Given the description of an element on the screen output the (x, y) to click on. 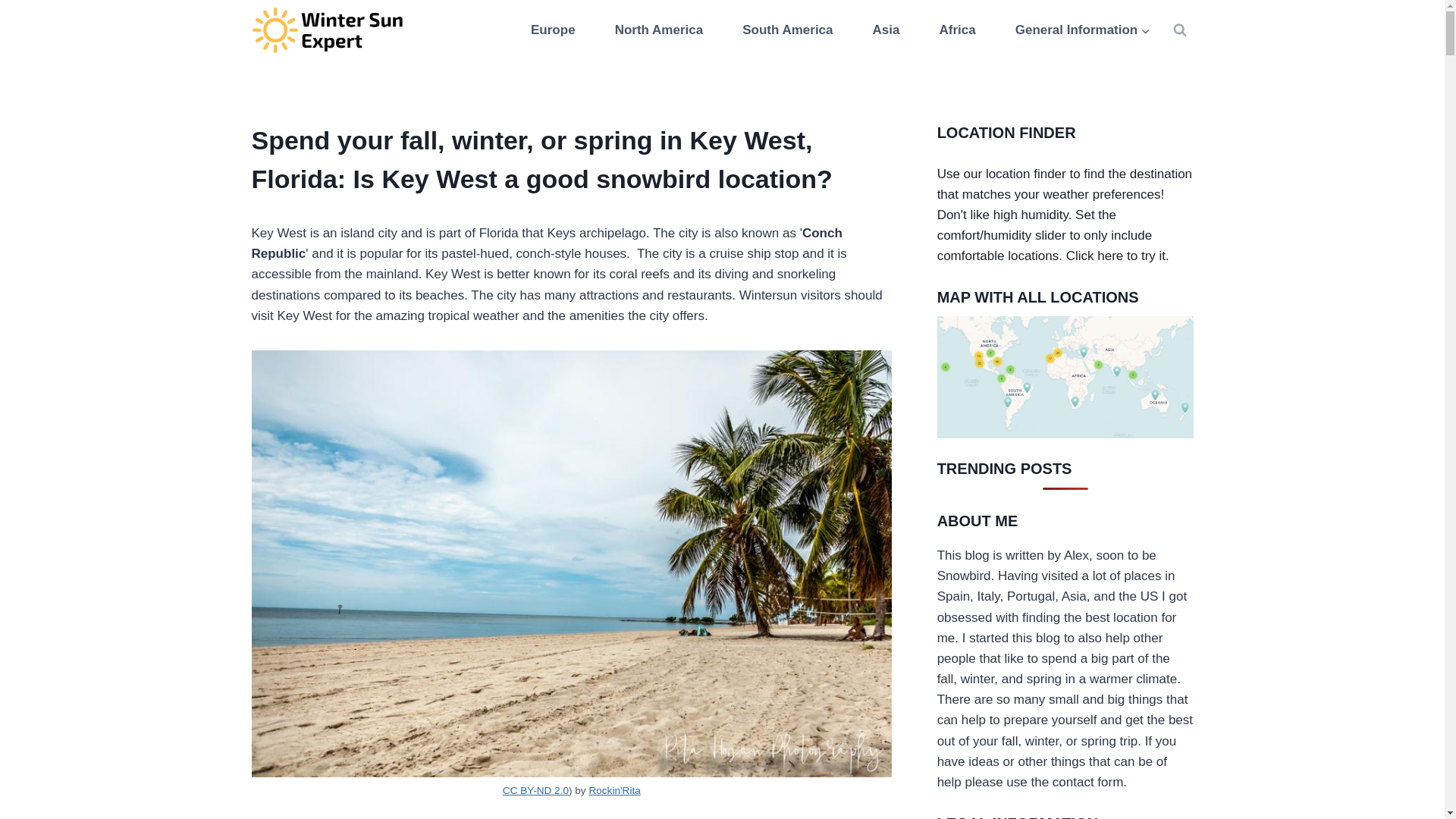
General Information (1082, 30)
CC BY-ND 2.0 (535, 790)
Asia (885, 30)
South America (788, 30)
North America (658, 30)
Rockin'Rita (614, 790)
Europe (552, 30)
Africa (957, 30)
Map with all locations (1065, 377)
